Given the description of an element on the screen output the (x, y) to click on. 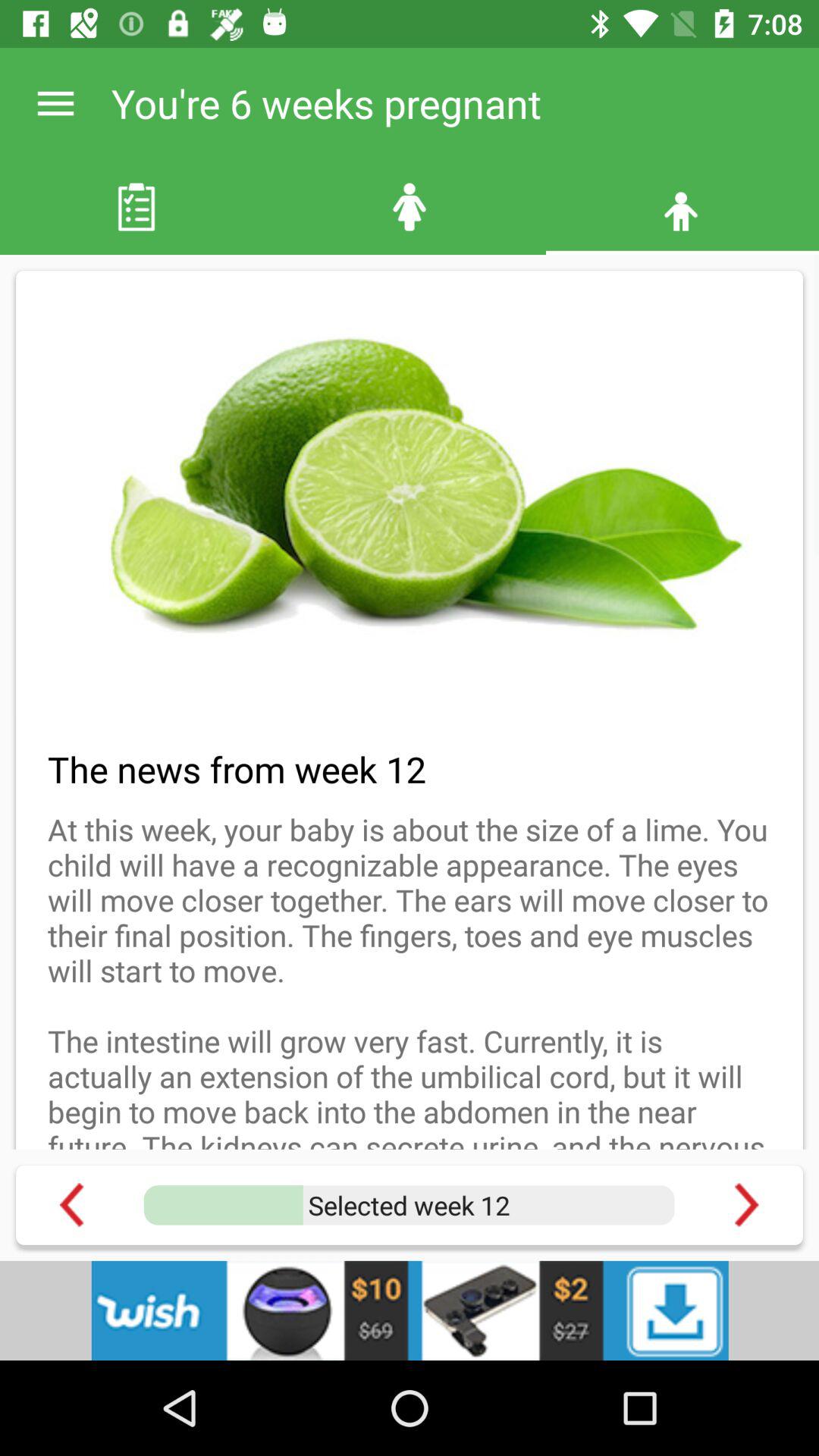
open advertisement (409, 1310)
